Given the description of an element on the screen output the (x, y) to click on. 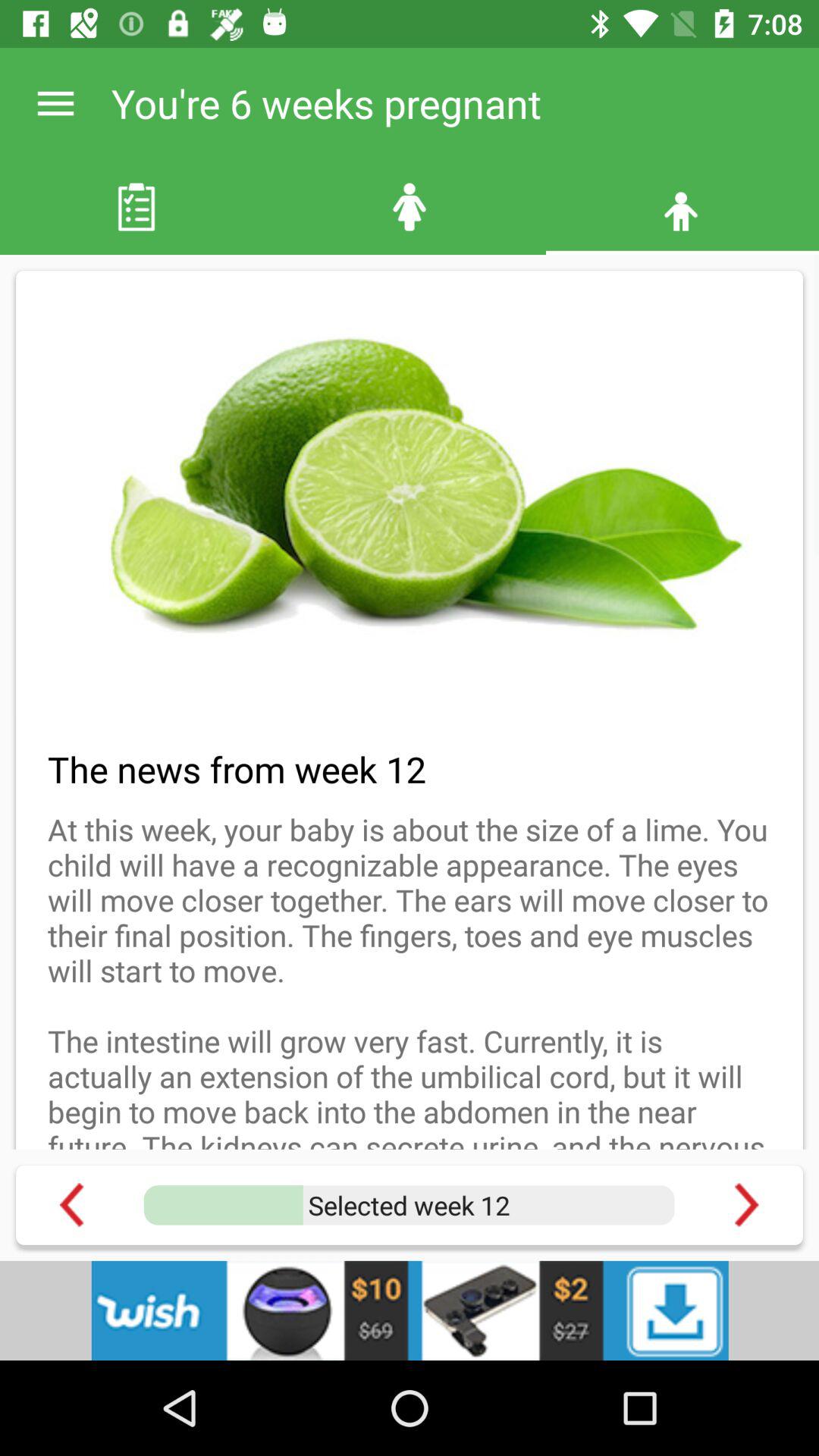
open advertisement (409, 1310)
